Given the description of an element on the screen output the (x, y) to click on. 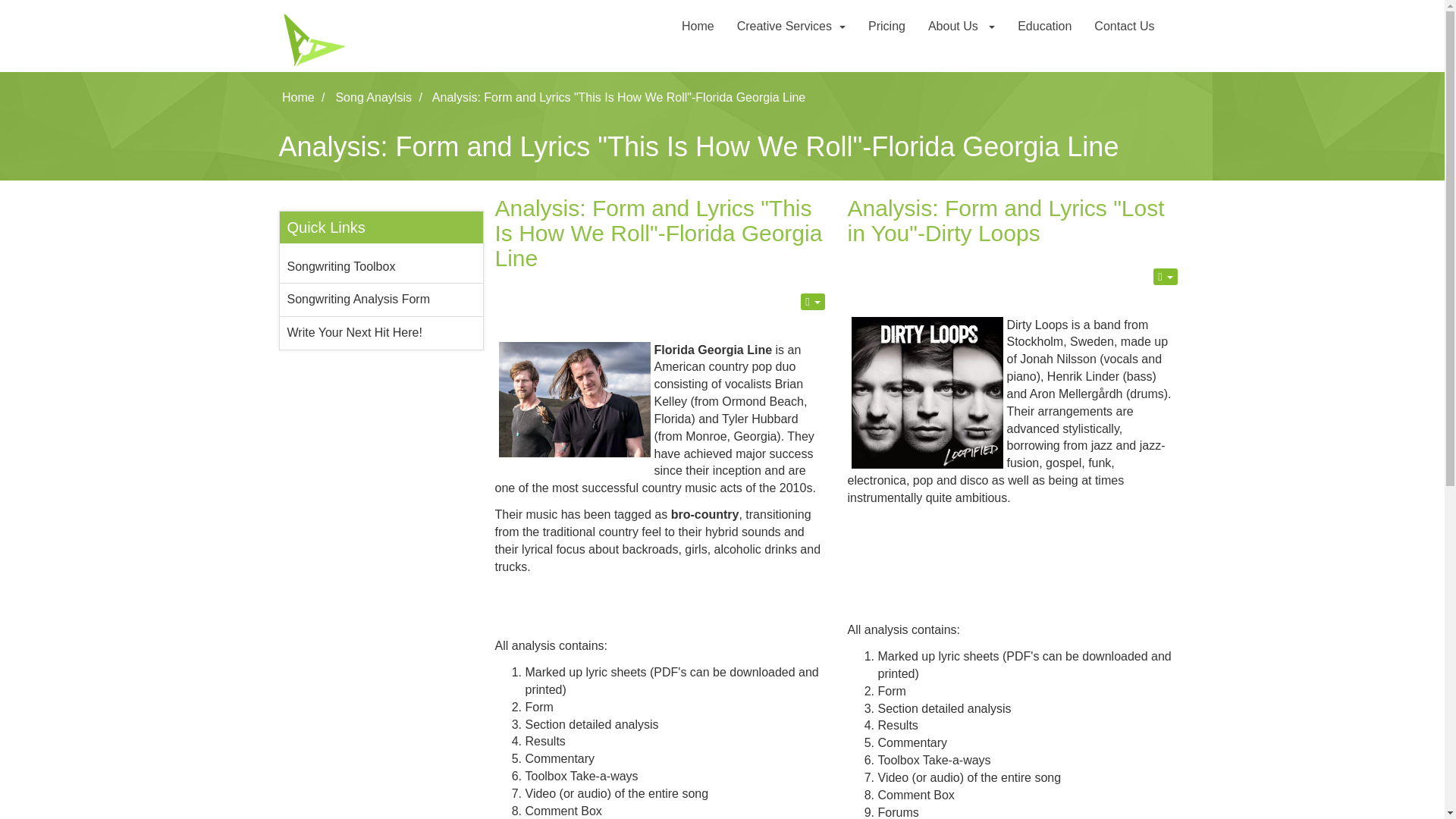
Analysis: Form and Lyrics "Lost in You"-Dirty Loops (1005, 220)
AdmaginationCreativeStudios (381, 38)
Home (697, 26)
Creative Services (791, 26)
